Given the description of an element on the screen output the (x, y) to click on. 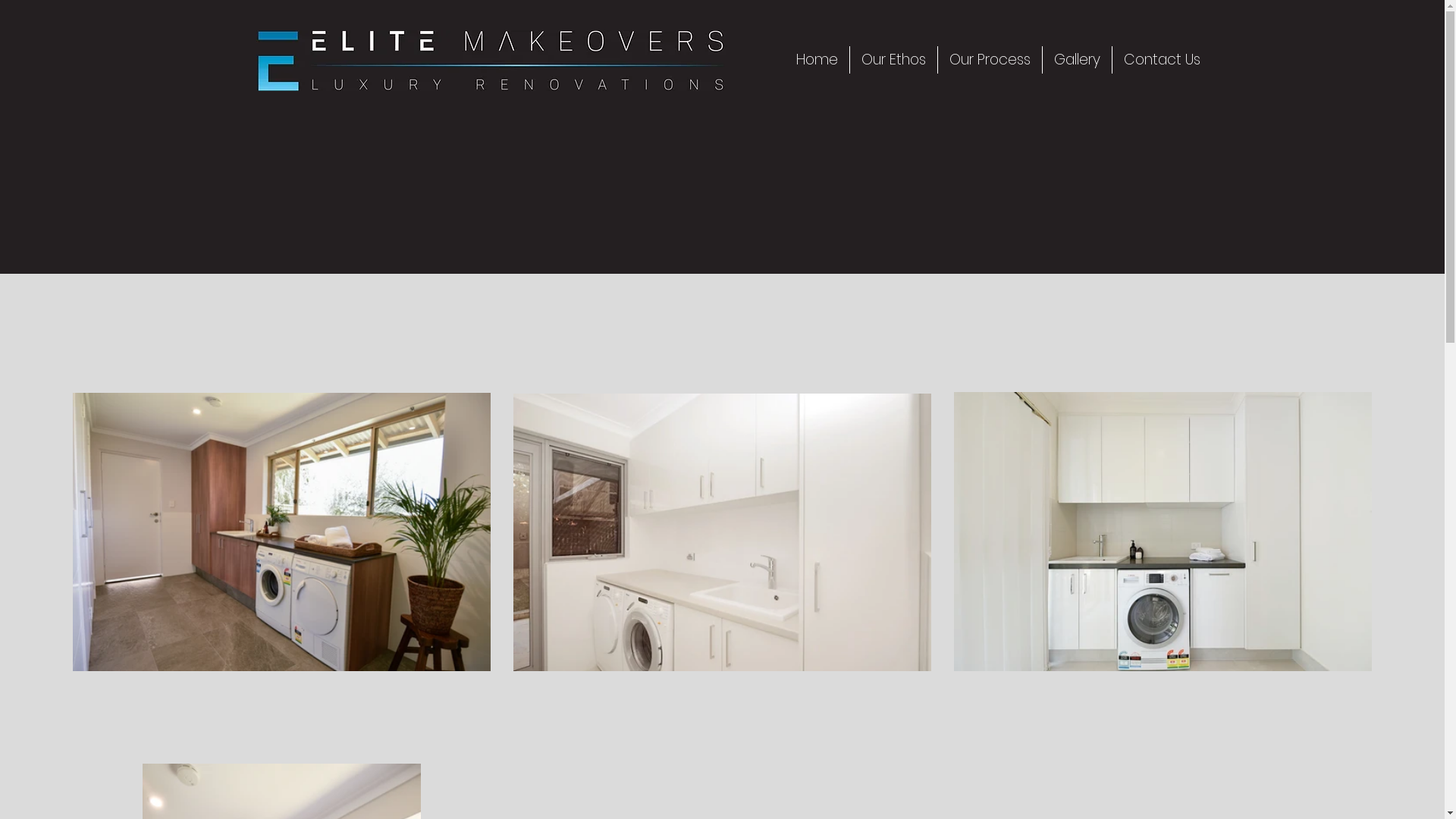
Gallery Element type: text (1075, 59)
Contact Us Element type: text (1161, 59)
Our Ethos Element type: text (892, 59)
Home Element type: text (816, 59)
Our Process Element type: text (989, 59)
